Given the description of an element on the screen output the (x, y) to click on. 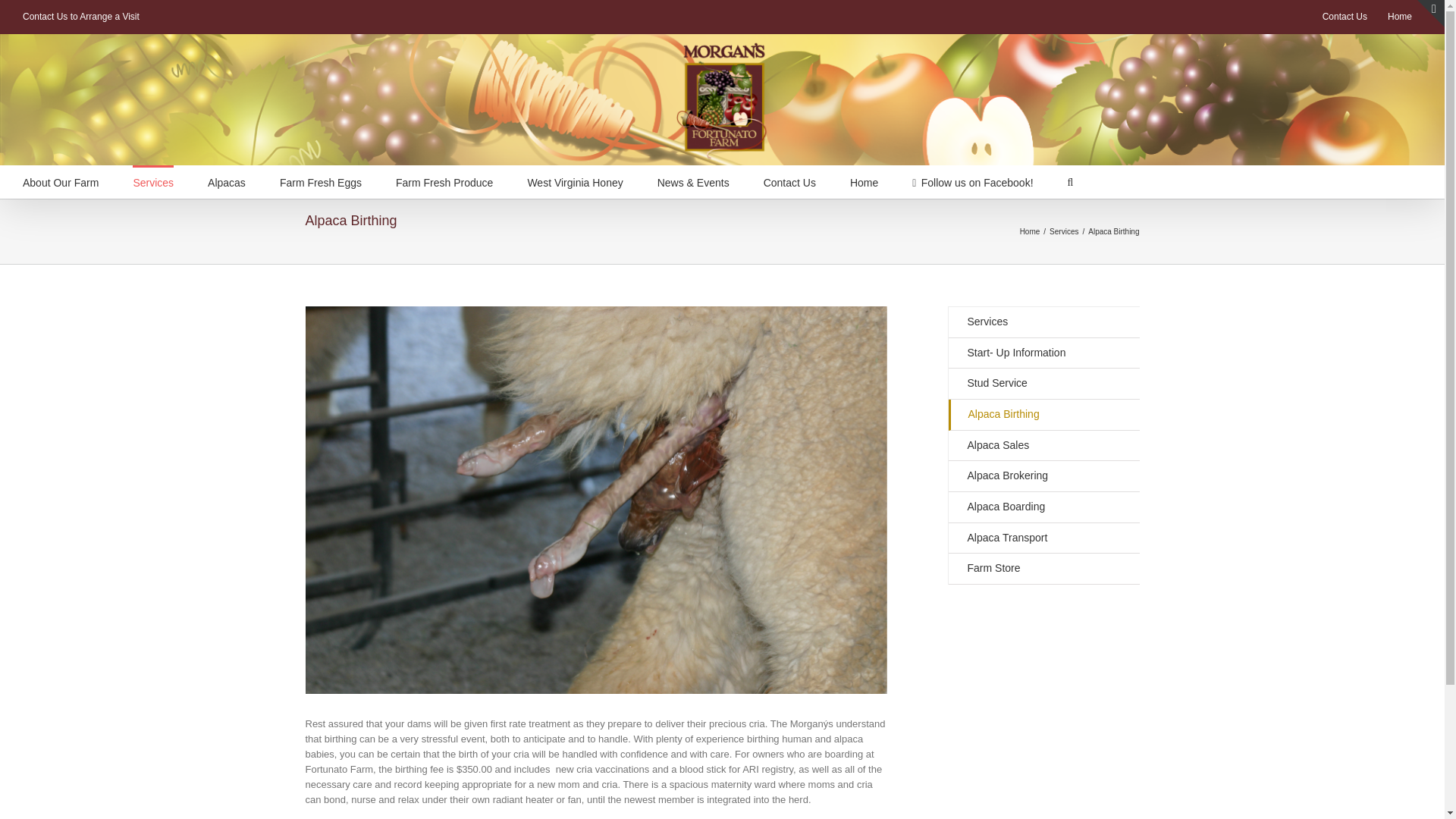
West Virginia Honey (575, 181)
Contact Us to Arrange a Visit (81, 15)
Contact Us (1345, 16)
Back to Parent Page (1042, 322)
About Our Farm (61, 181)
Home (1399, 16)
Farm Fresh Eggs (320, 181)
Alpacas (227, 181)
Contact Us (788, 181)
Services (152, 181)
Farm Fresh Produce (444, 181)
Follow us on Facebook! (972, 181)
